Given the description of an element on the screen output the (x, y) to click on. 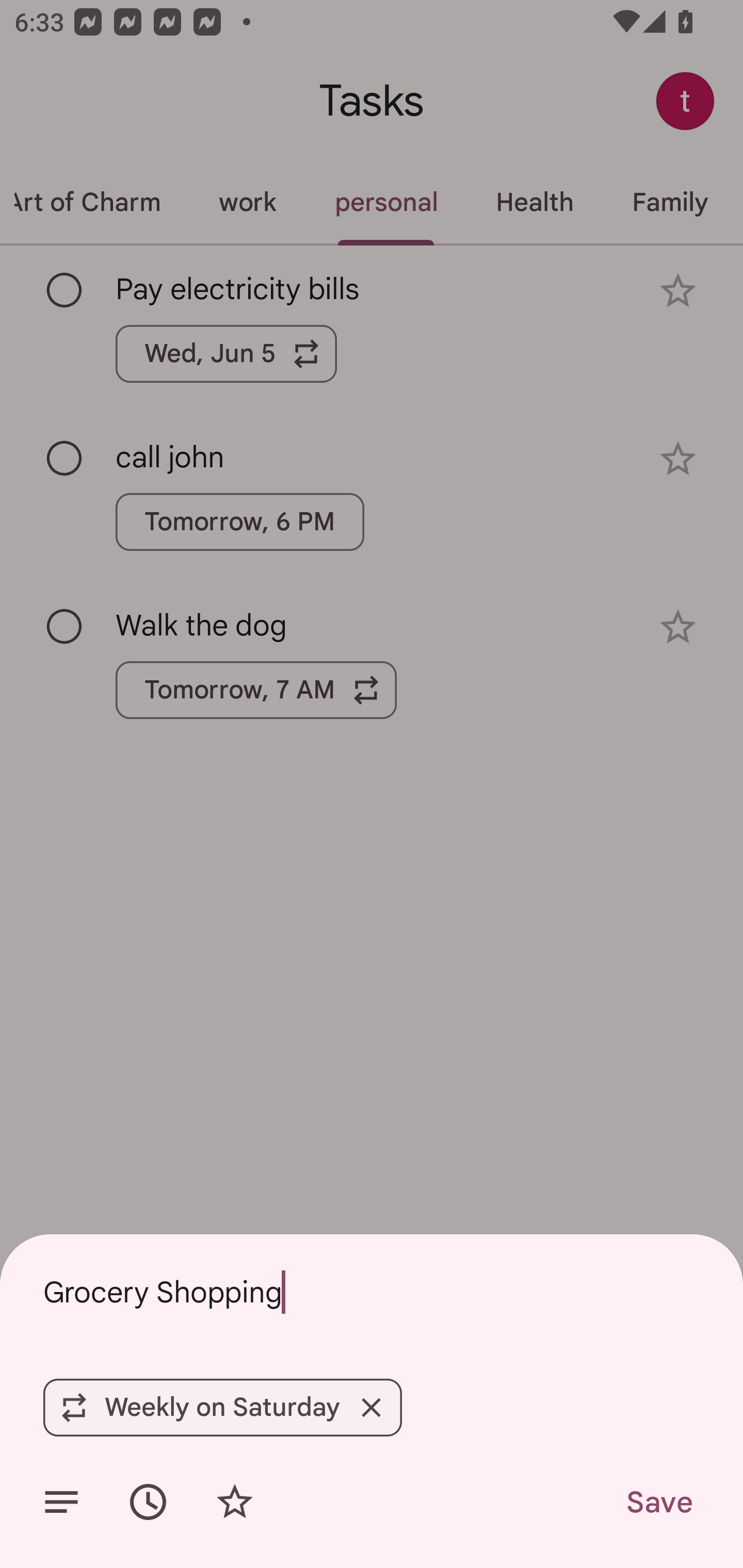
Grocery Shopping (371, 1291)
Weekly on Saturday Remove Weekly on Saturday (222, 1407)
Save (659, 1501)
Add details (60, 1501)
Set date/time (147, 1501)
Add star (234, 1501)
